Given the description of an element on the screen output the (x, y) to click on. 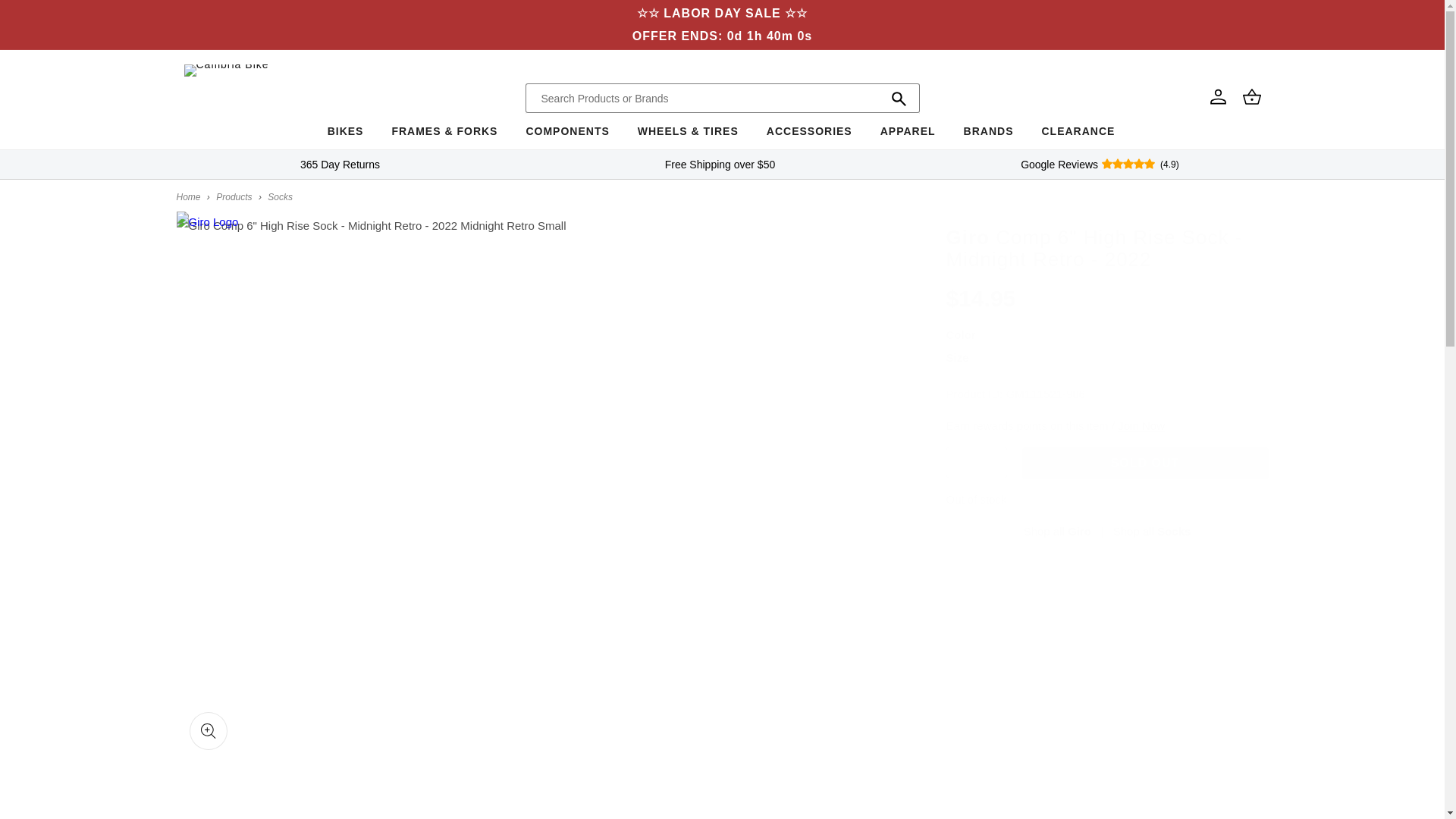
Socks (1152, 530)
Products (233, 196)
Cambria Bike (188, 196)
Socks (279, 196)
